Given the description of an element on the screen output the (x, y) to click on. 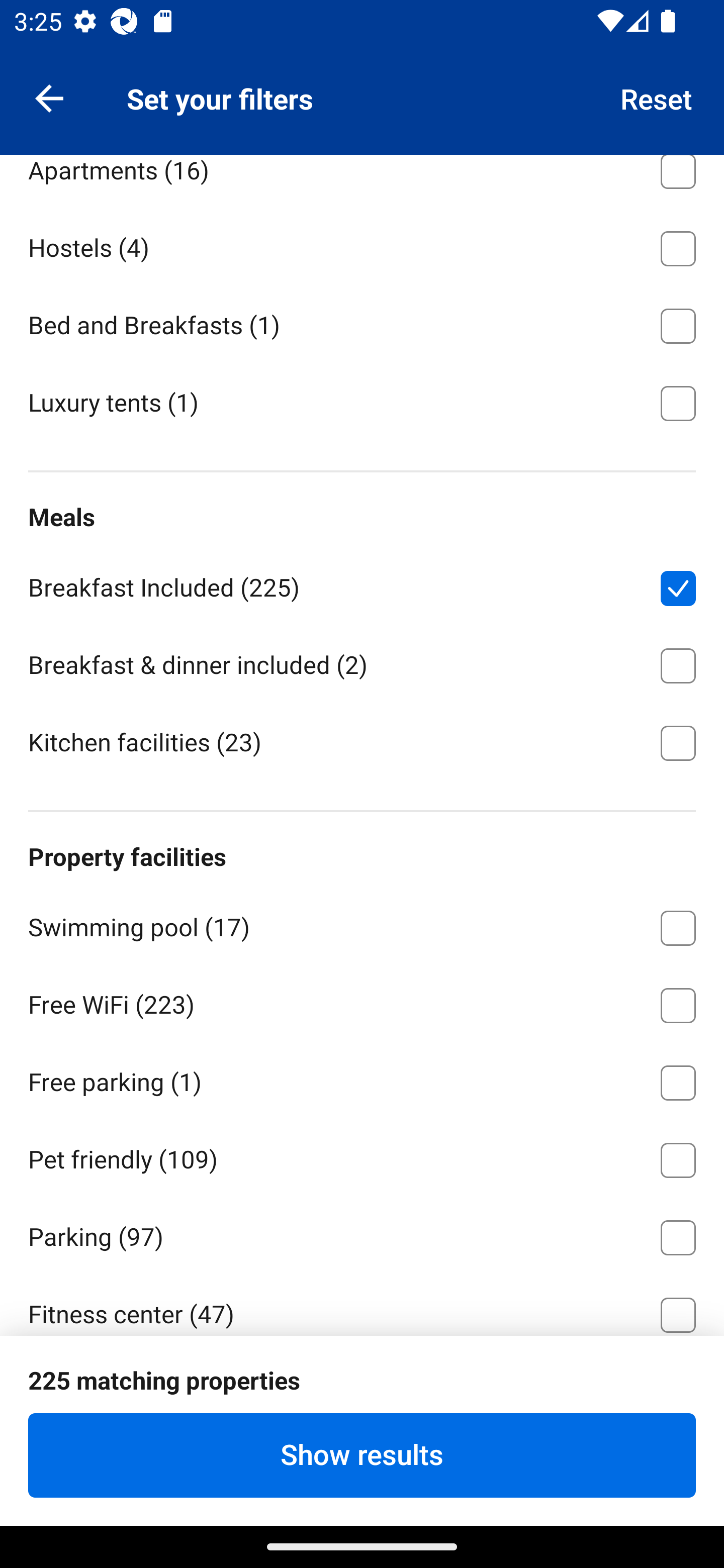
Navigate up (49, 97)
Entire homes & apartments ⁦(69) (361, 89)
Reset (656, 97)
Apartments ⁦(16) (361, 180)
Hostels ⁦(4) (361, 244)
Bed and Breakfasts ⁦(1) (361, 321)
Luxury tents ⁦(1) (361, 401)
Breakfast Included ⁦(225) (361, 584)
Breakfast & dinner included ⁦(2) (361, 662)
Kitchen facilities ⁦(23) (361, 741)
Swimming pool ⁦(17) (361, 923)
Free WiFi ⁦(223) (361, 1001)
Free parking ⁦(1) (361, 1079)
Pet friendly ⁦(109) (361, 1155)
Parking ⁦(97) (361, 1233)
Fitness center ⁦(47) (361, 1304)
Non-smoking rooms ⁦(224) (361, 1389)
Show results (361, 1454)
